Given the description of an element on the screen output the (x, y) to click on. 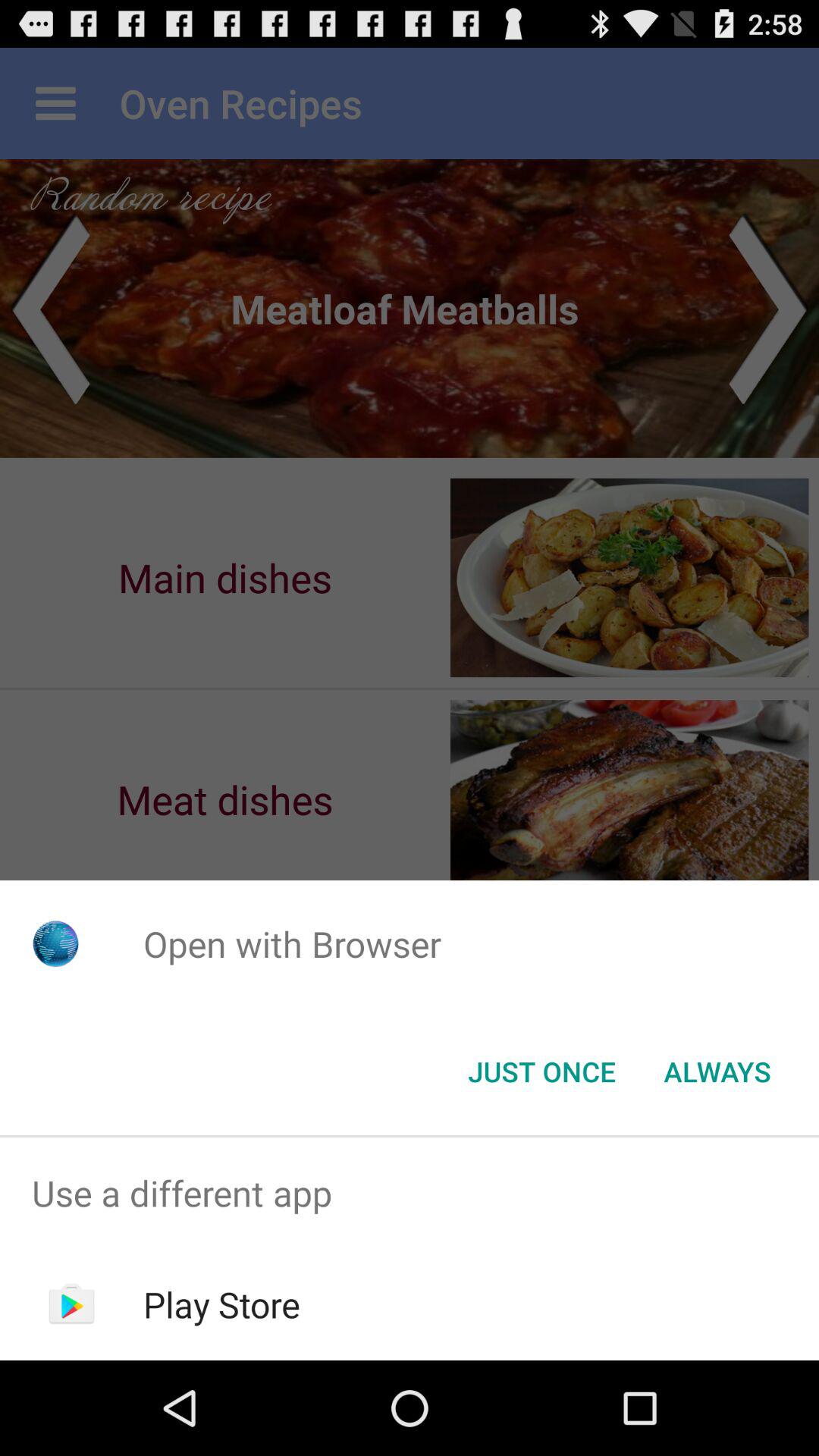
select app below the use a different (221, 1304)
